Given the description of an element on the screen output the (x, y) to click on. 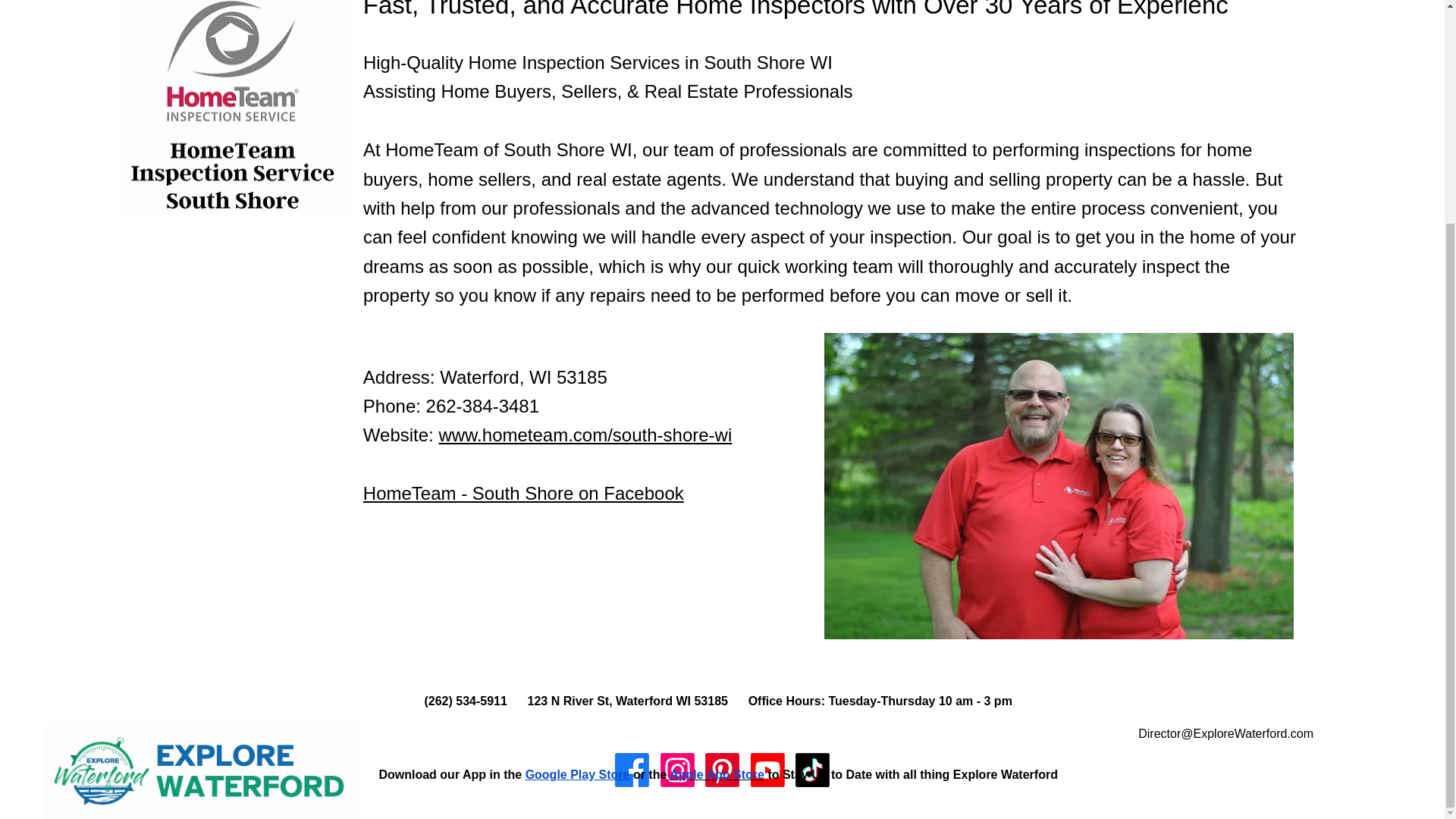
HomeTeam - South Shore on Facebook (523, 493)
Google Play Store (577, 774)
Apple App Store (715, 774)
